Given the description of an element on the screen output the (x, y) to click on. 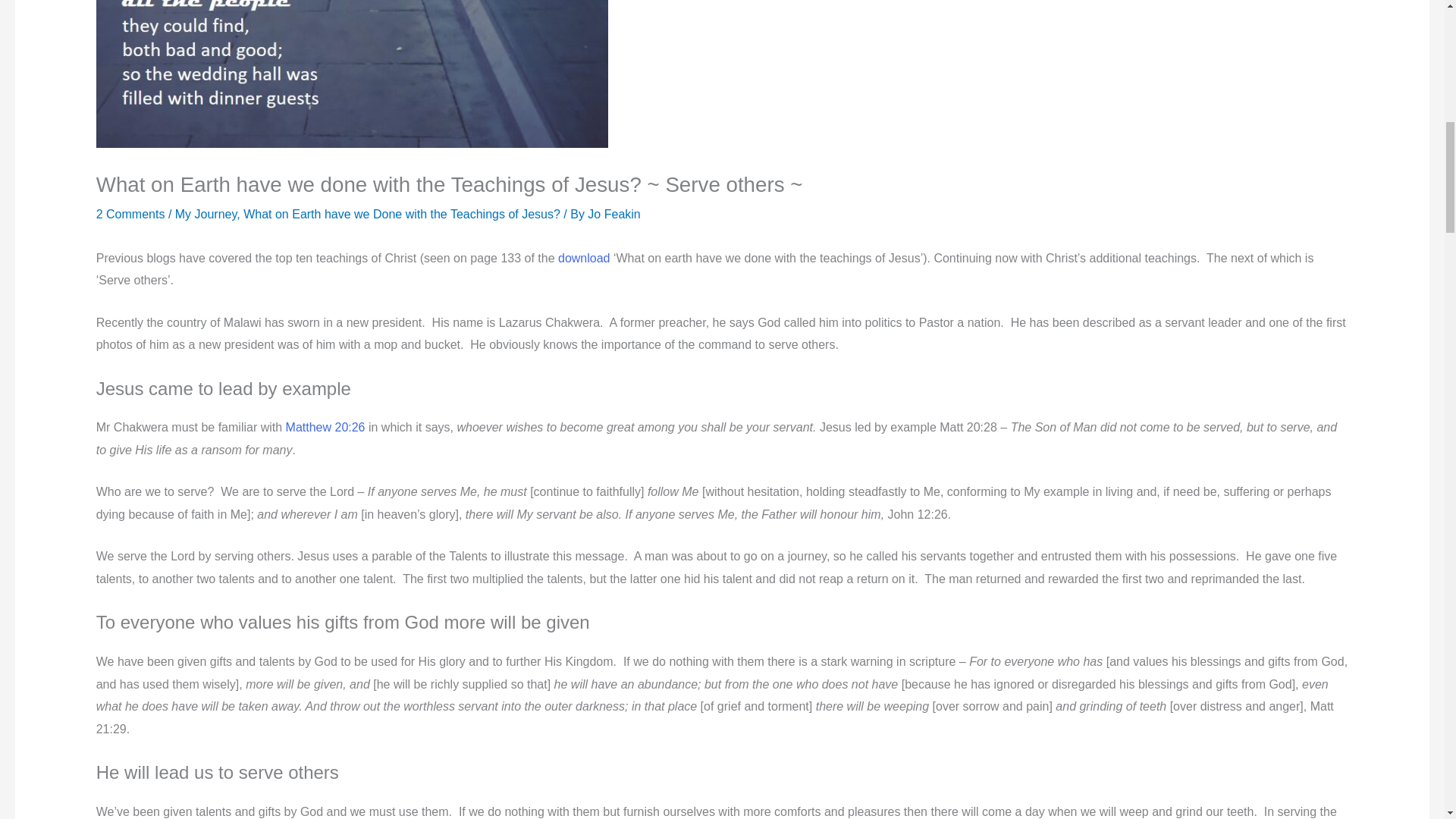
My Journey (205, 214)
2 Comments (130, 214)
Matthew 20:26 (325, 427)
download (583, 257)
What on Earth have we Done with the Teachings of Jesus? (401, 214)
View all posts by Jo Feakin (614, 214)
Jo Feakin (614, 214)
